Given the description of an element on the screen output the (x, y) to click on. 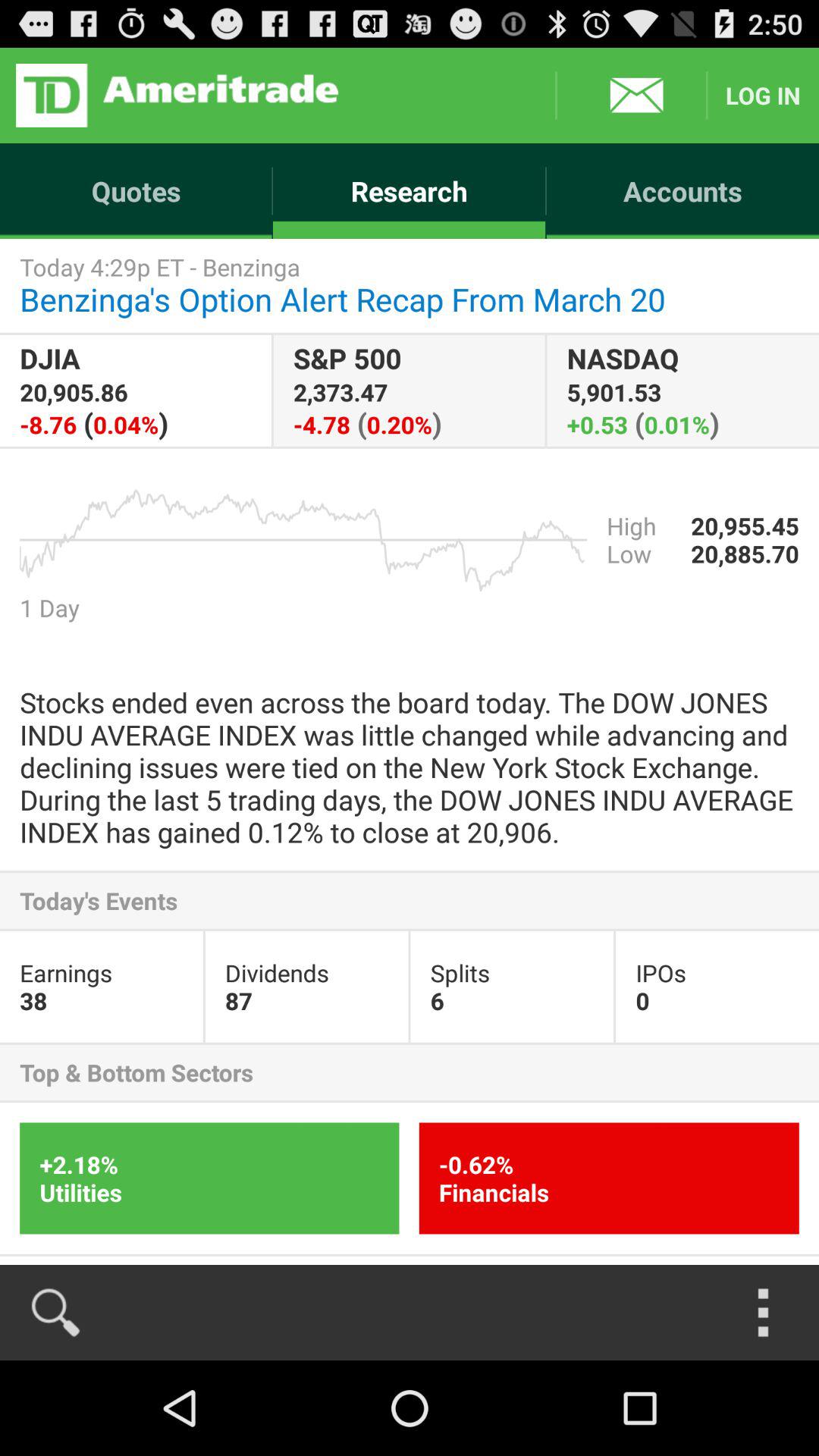
email ameritrade (631, 95)
